Given the description of an element on the screen output the (x, y) to click on. 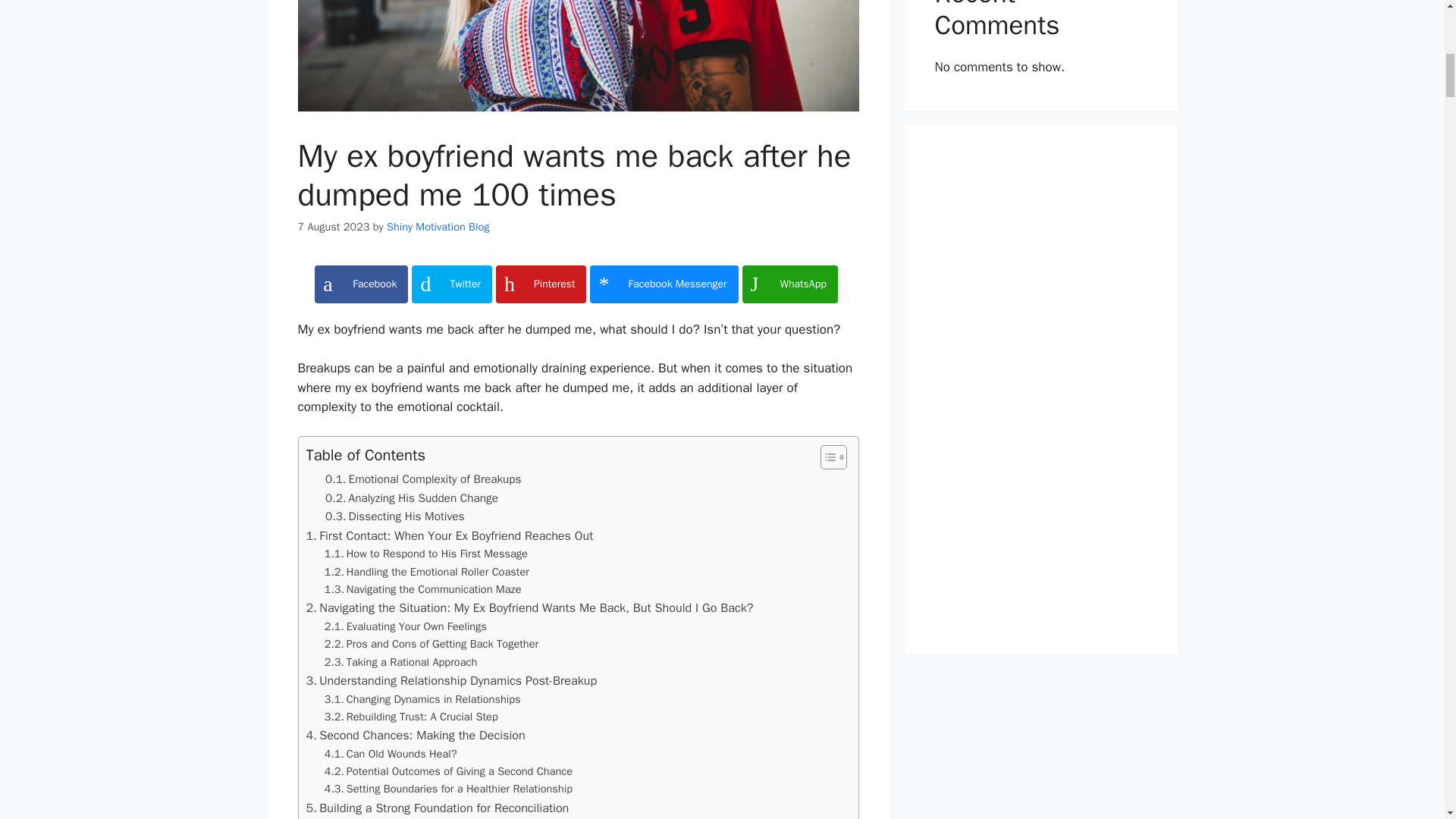
Rebuilding Trust: A Crucial Step (410, 716)
First Contact: When Your Ex Boyfriend Reaches Out (449, 536)
Evaluating Your Own Feelings (405, 626)
Setting Boundaries for a Healthier Relationship (448, 788)
Share on WhatsApp (790, 284)
WhatsApp (790, 284)
How to Respond to His First Message (425, 553)
Dissecting His Motives (394, 515)
Handling the Emotional Roller Coaster (426, 571)
Shiny Motivation Blog (438, 226)
Share on Facebook Messenger (663, 284)
Emotional Complexity of Breakups (422, 479)
How to Respond to His First Message (425, 553)
Dissecting His Motives (394, 515)
